Given the description of an element on the screen output the (x, y) to click on. 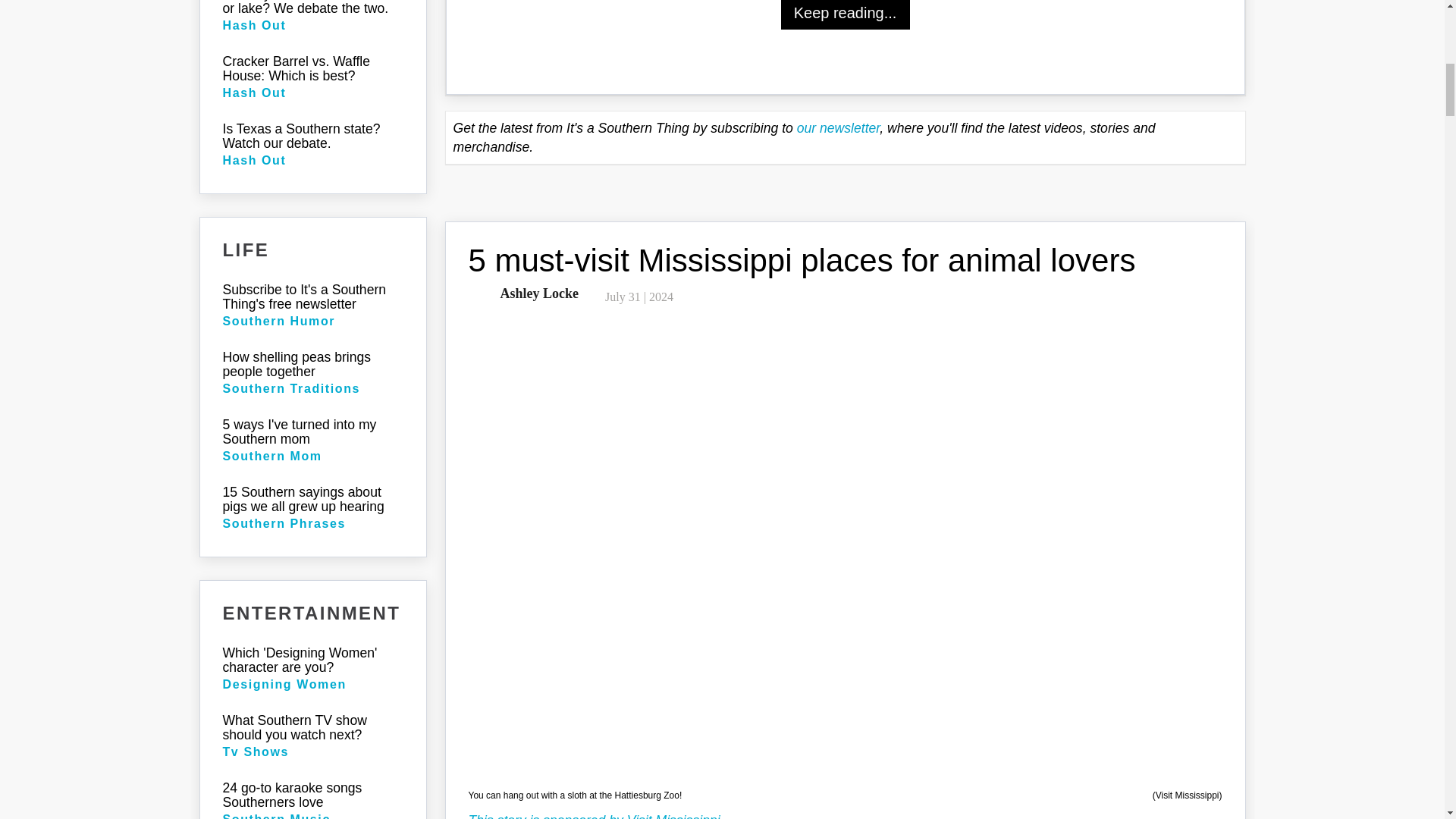
Ashley Locke (537, 293)
5 must-visit Mississippi places for animal lovers (801, 260)
our newsletter (838, 127)
